Given the description of an element on the screen output the (x, y) to click on. 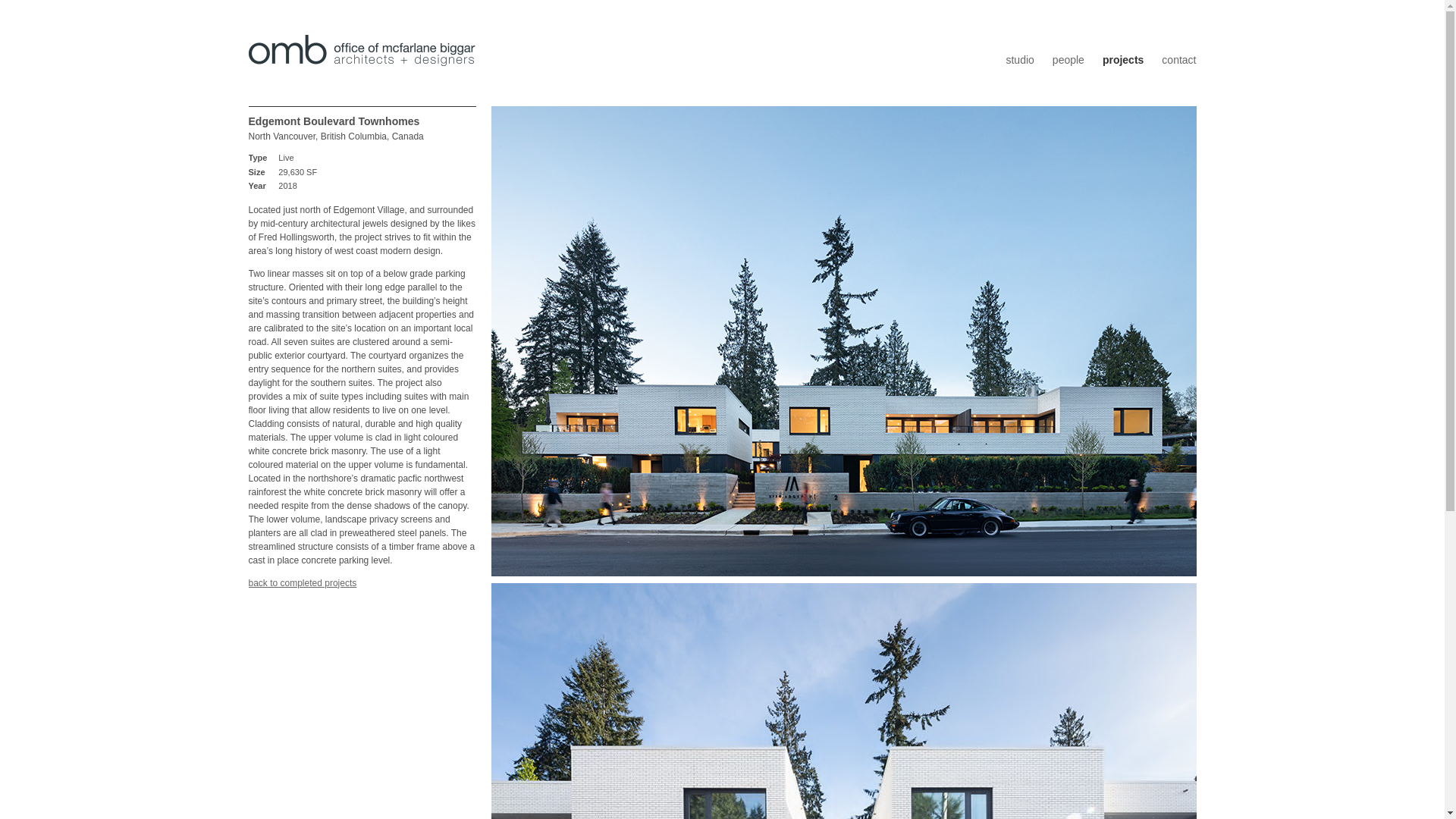
contact (1178, 60)
projects (1122, 60)
back to completed projects (302, 583)
studio (1019, 60)
projects (302, 583)
people (1068, 60)
projects (1122, 60)
people (1068, 60)
contact (1178, 60)
studio (1019, 60)
